Given the description of an element on the screen output the (x, y) to click on. 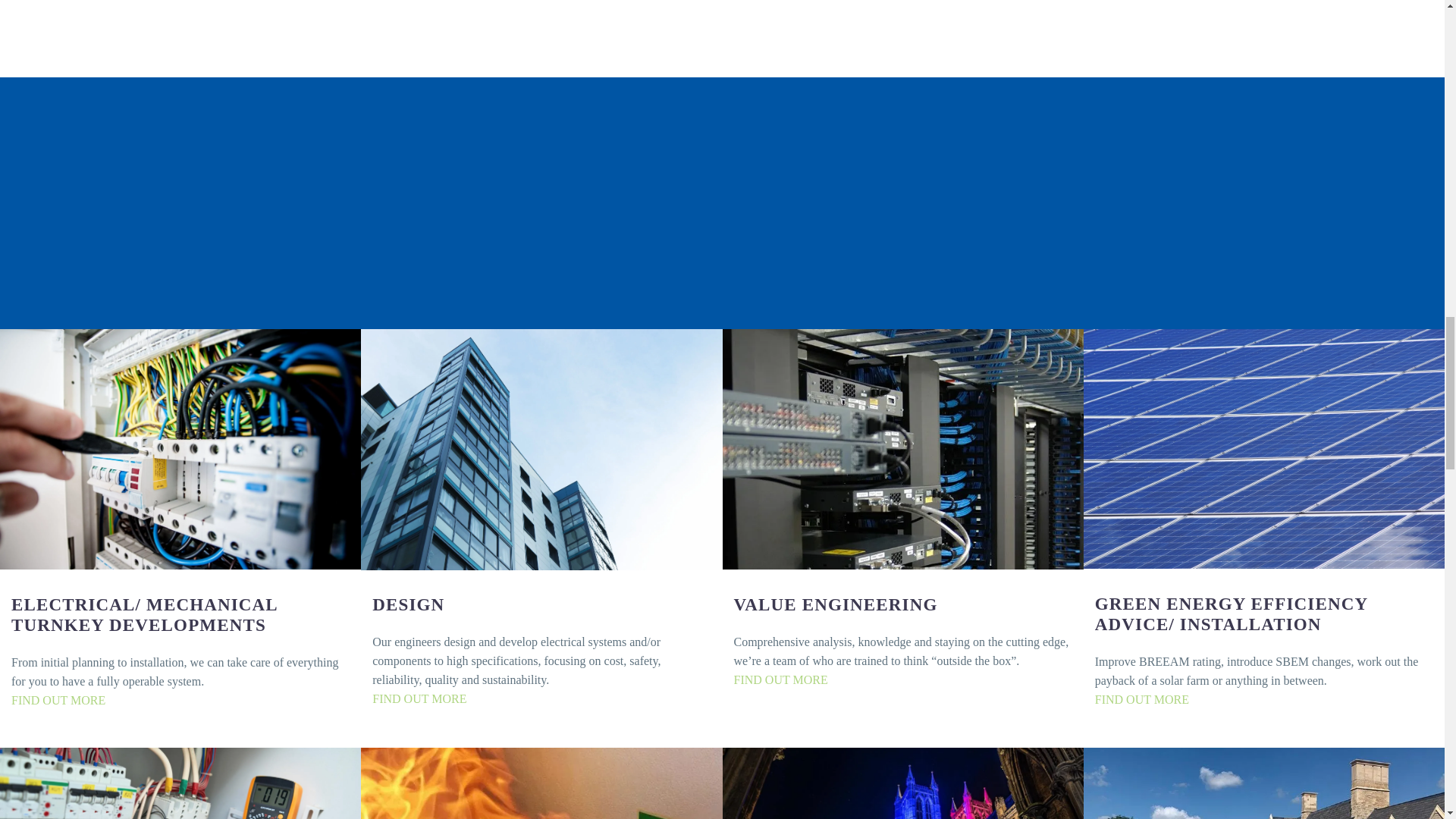
FIND OUT MORE (780, 679)
telecom (902, 449)
pexels-photo-257736 (180, 449)
FIND OUT MORE (57, 699)
FIND OUT MORE (418, 698)
commercial-electrician (541, 449)
FIND OUT MORE (1141, 698)
Electrician2 (180, 783)
fire (541, 783)
